Given the description of an element on the screen output the (x, y) to click on. 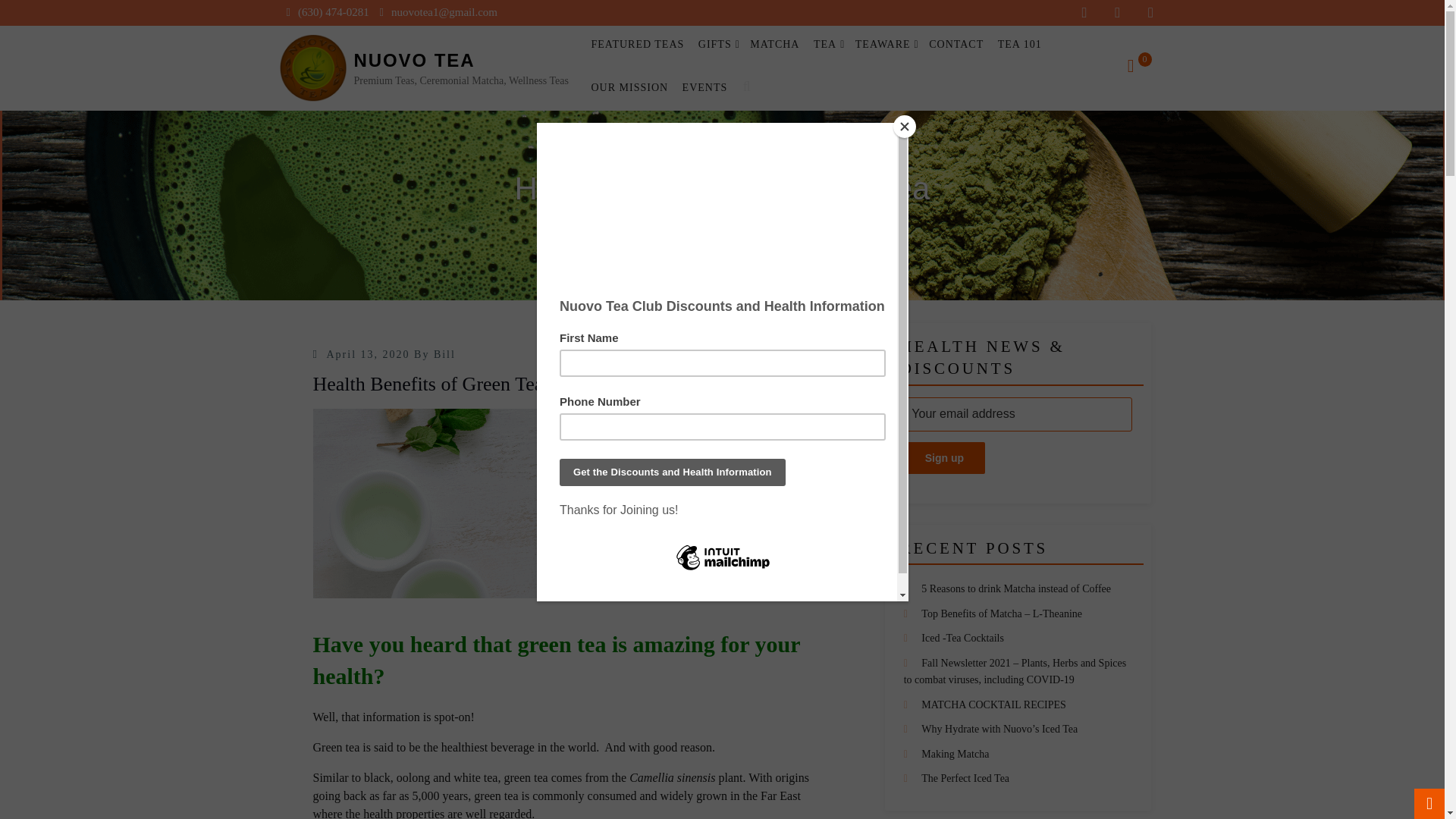
Instagram (1149, 11)
Facebook (1084, 11)
NUOVO TEA (413, 59)
Twitter (1117, 11)
FEATURED TEAS (636, 44)
GIFTS (717, 44)
TEA (826, 44)
MATCHA (774, 44)
Sign up (944, 458)
TEAWARE (885, 44)
